Given the description of an element on the screen output the (x, y) to click on. 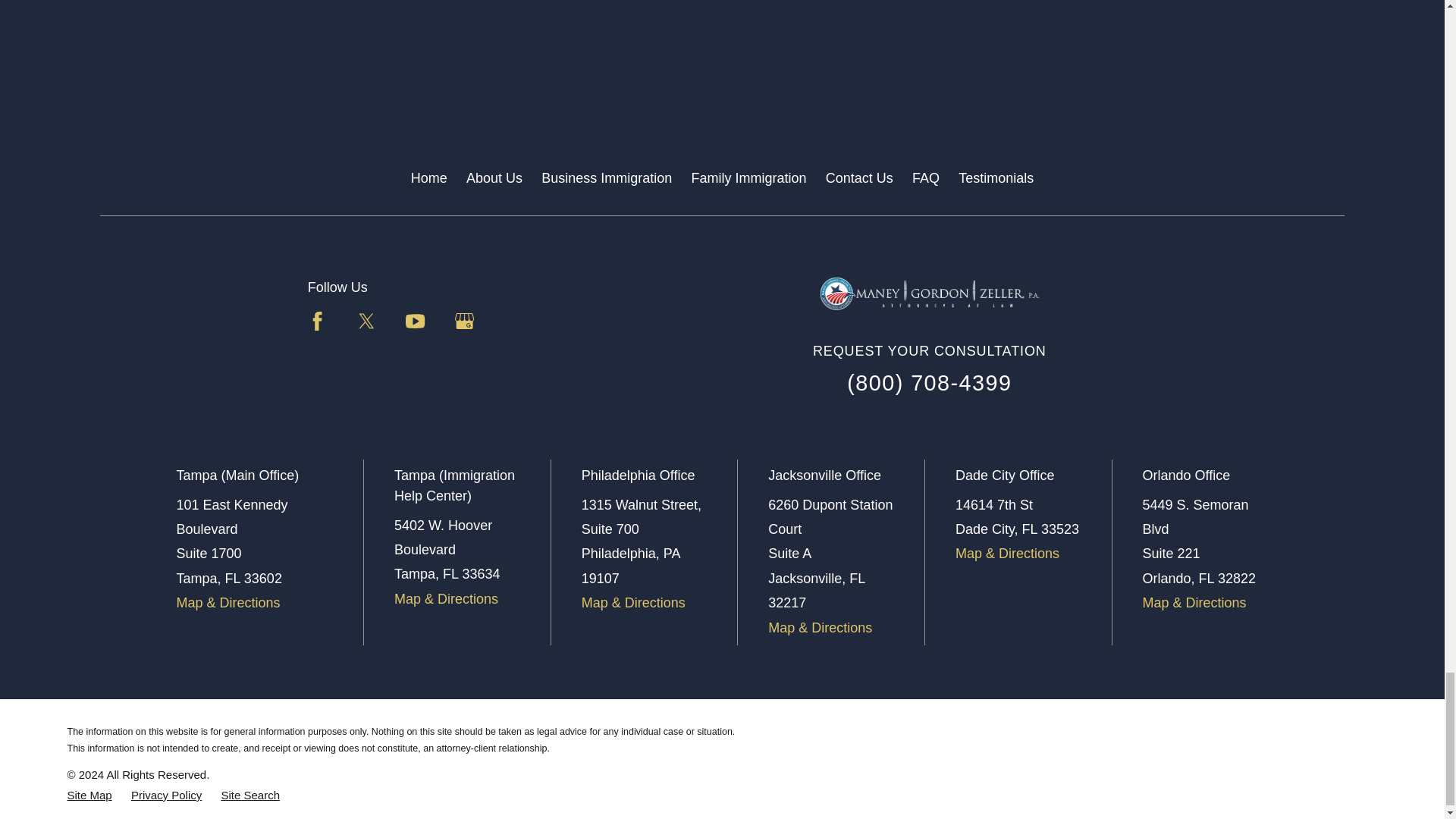
YouTube (415, 321)
Twitter (365, 321)
Facebook (316, 321)
